Given the description of an element on the screen output the (x, y) to click on. 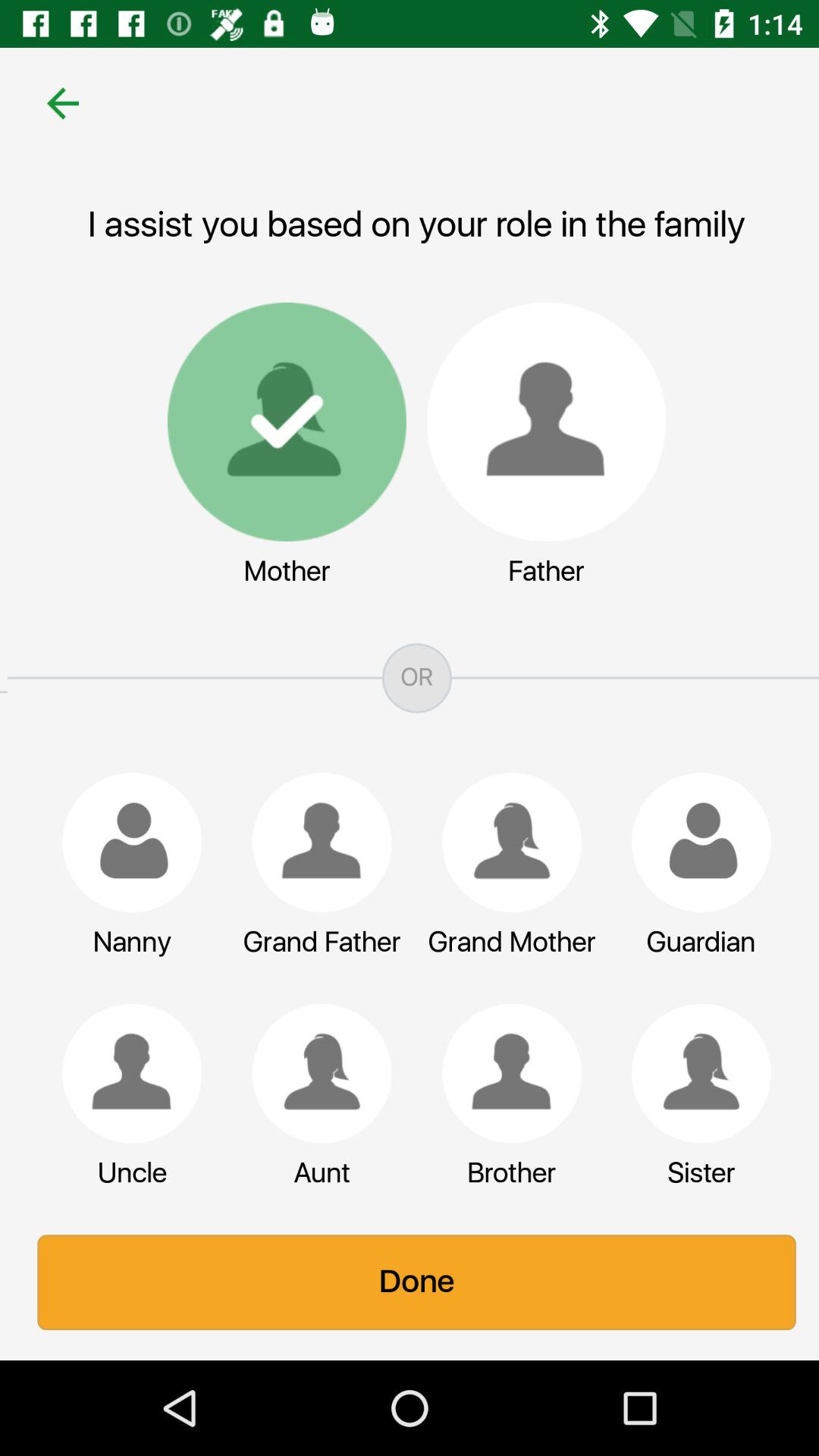
turn on item above the brother item (504, 1073)
